Given the description of an element on the screen output the (x, y) to click on. 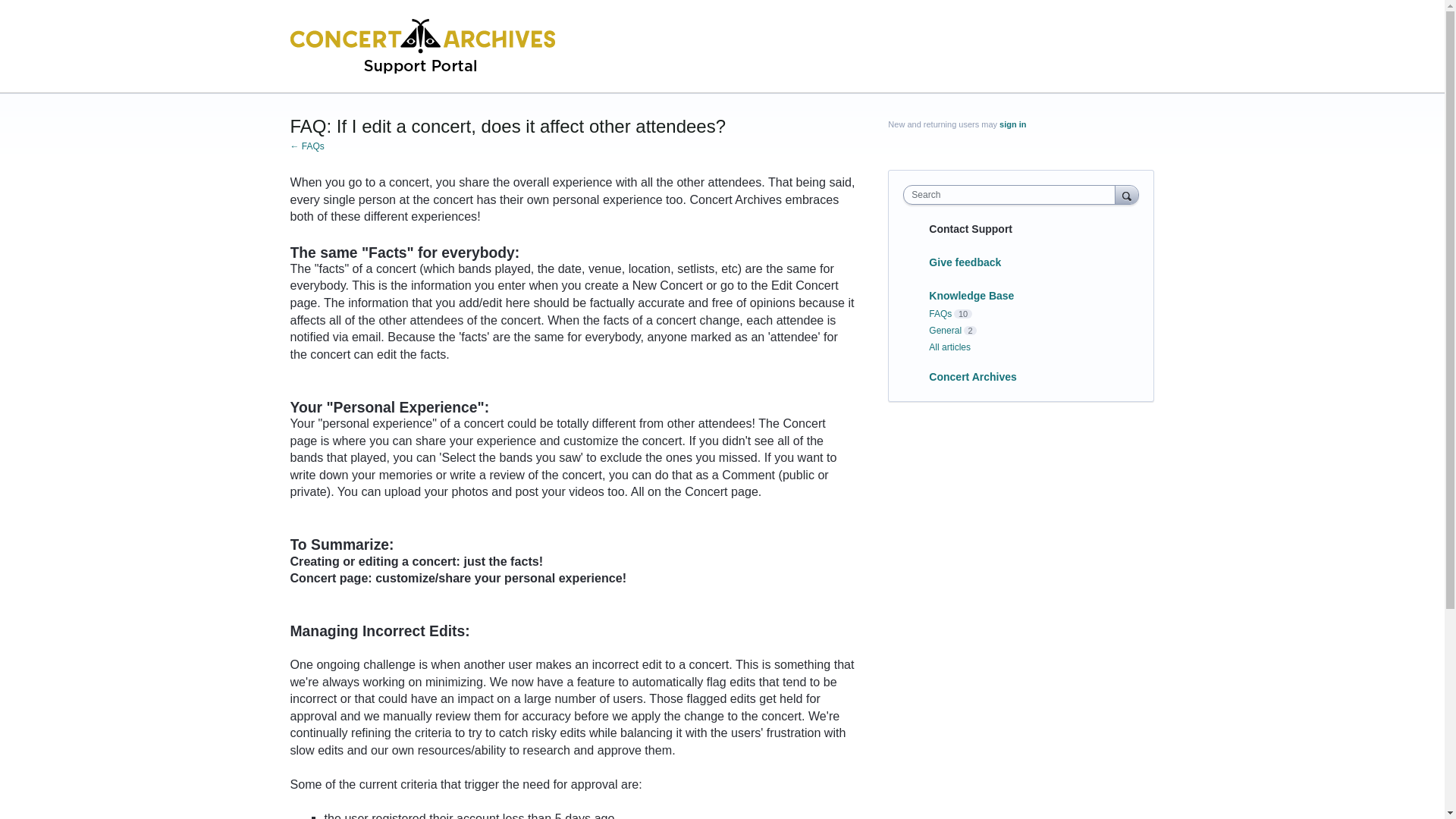
Contact Support (969, 228)
View all articles in General (944, 330)
Give feedback (964, 262)
View all articles in FAQs (940, 313)
All articles (949, 347)
FAQs (940, 313)
Concert Archives (972, 377)
General (944, 330)
sign in (1012, 123)
Knowledge Base (970, 295)
Search (1126, 194)
